Given the description of an element on the screen output the (x, y) to click on. 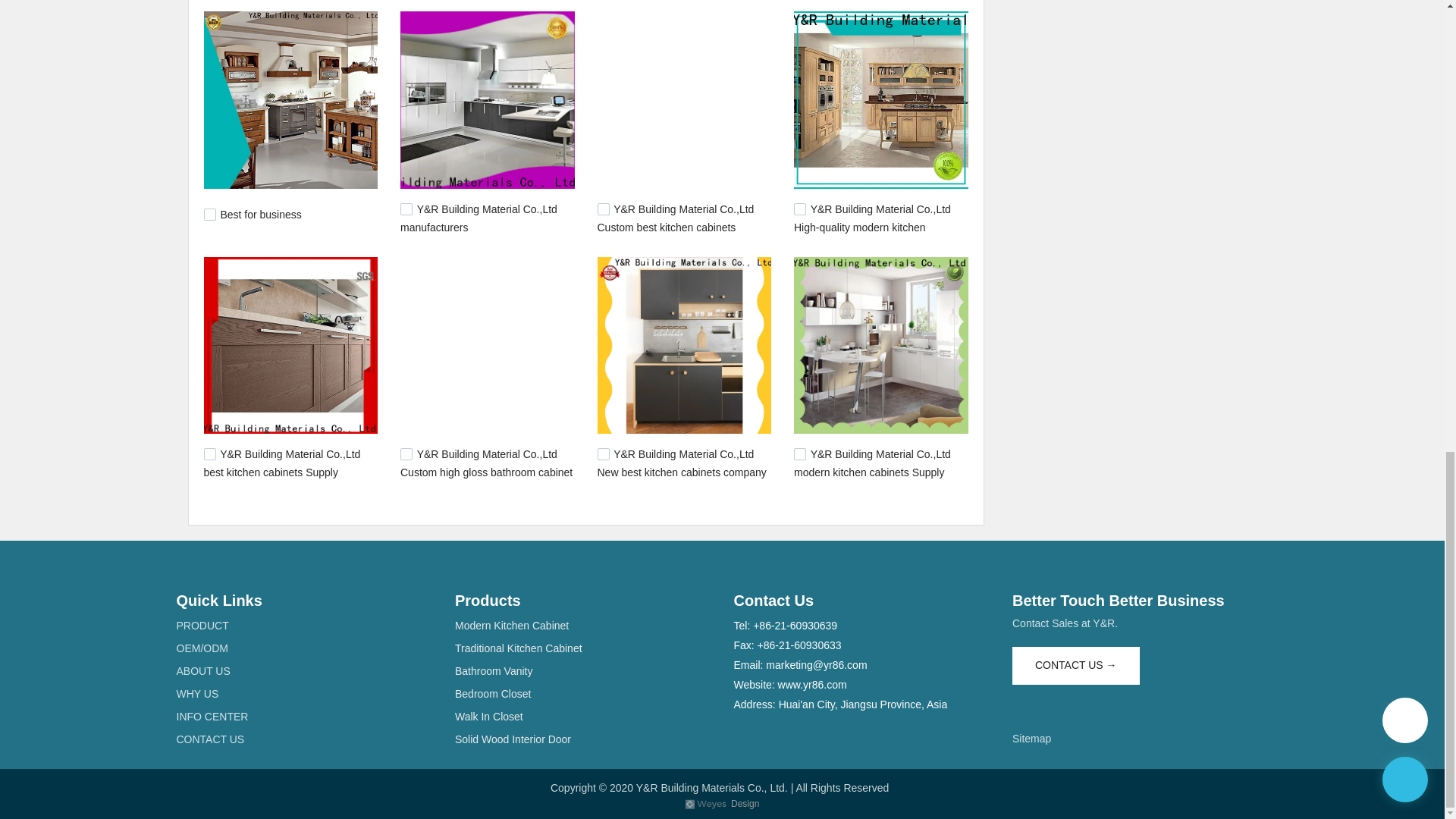
4315 (603, 209)
4320 (406, 209)
4353 (209, 214)
4294 (799, 209)
4285 (209, 453)
4226 (799, 453)
4266 (406, 453)
4254 (603, 453)
Best for business (260, 214)
